Given the description of an element on the screen output the (x, y) to click on. 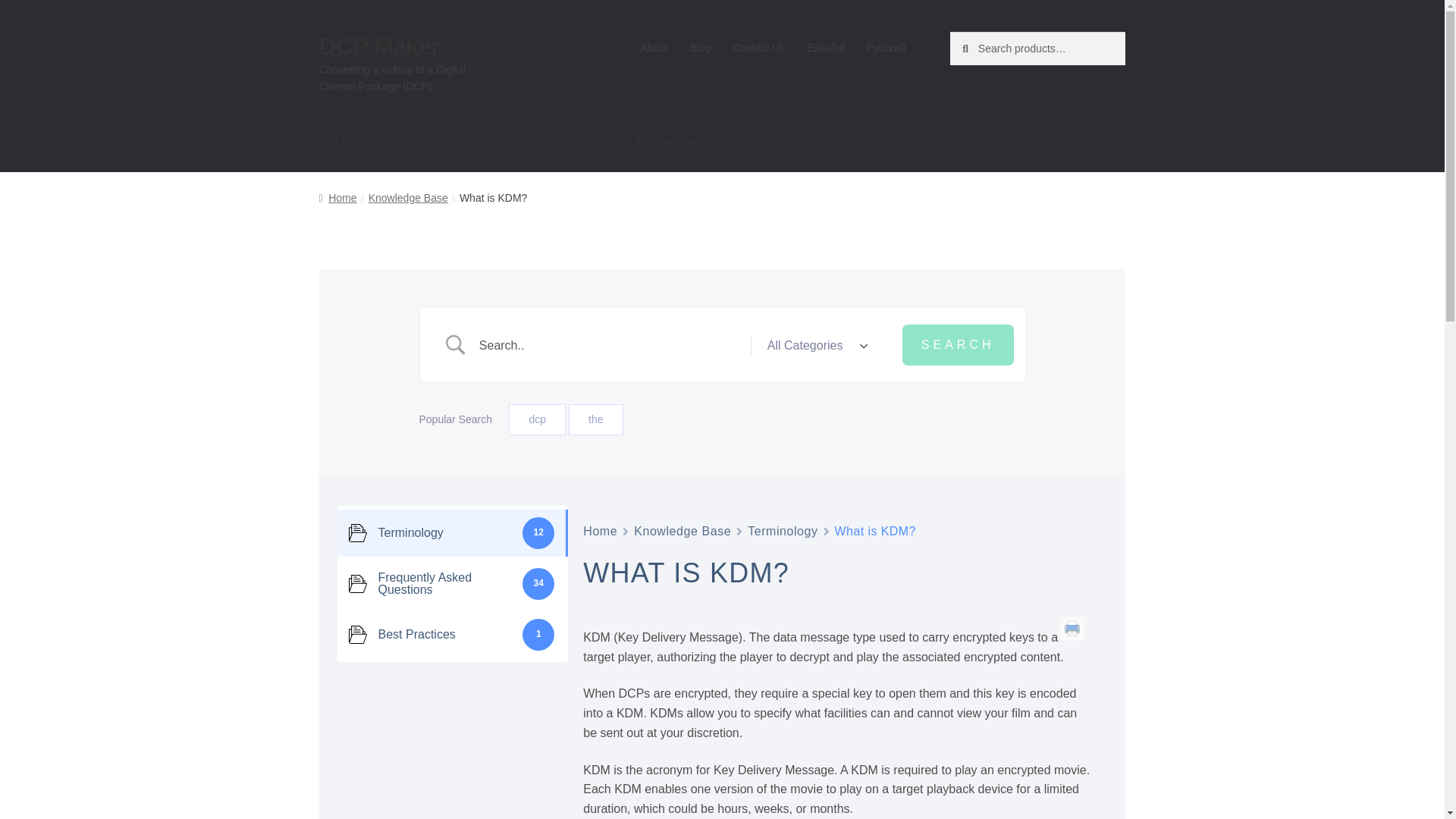
View your shopping basket (1037, 142)
DCP Maker (378, 45)
Terminology (782, 530)
Search (957, 344)
Services (426, 142)
Home (337, 197)
Contact Us (758, 47)
About (653, 47)
